Given the description of an element on the screen output the (x, y) to click on. 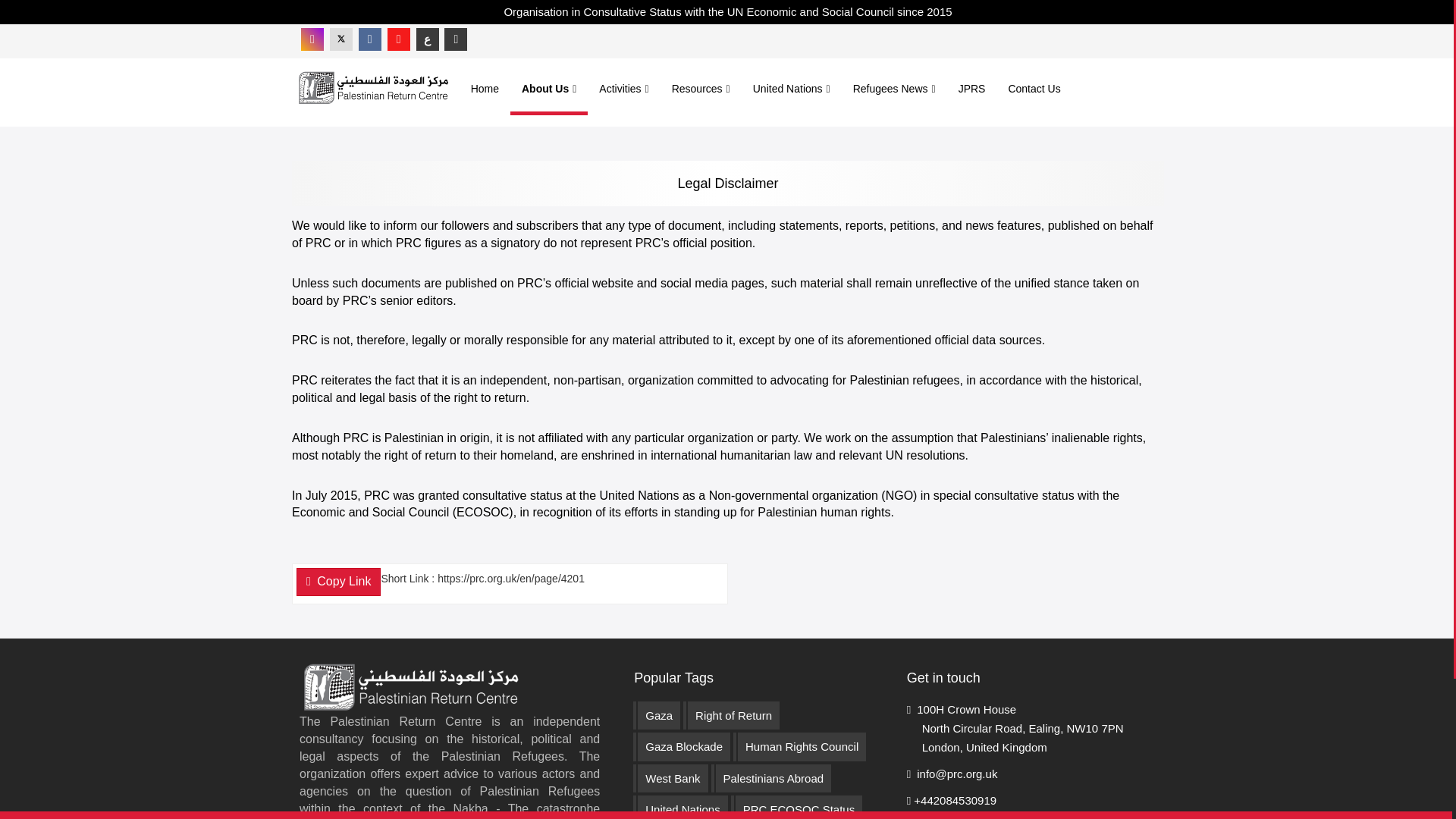
Home (485, 88)
Refugees News (894, 88)
Resources (701, 88)
United Nations (791, 88)
Activities (623, 88)
About Us (549, 92)
Arabic (427, 38)
Click to copy short link. (510, 583)
